Given the description of an element on the screen output the (x, y) to click on. 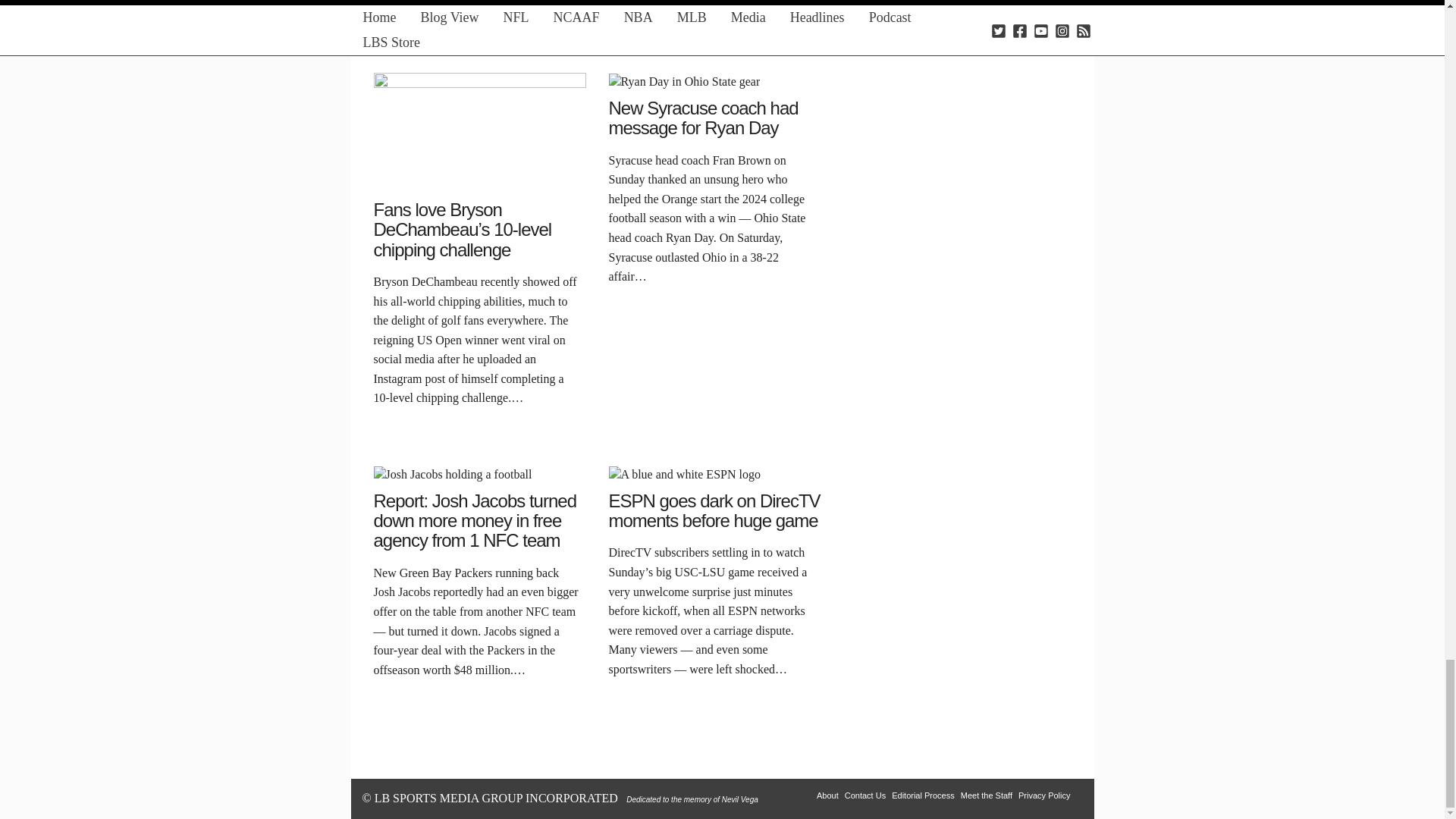
ESPN goes dark on DirecTV moments before huge game (684, 472)
New Syracuse coach had message for Ryan Day (684, 80)
